Given the description of an element on the screen output the (x, y) to click on. 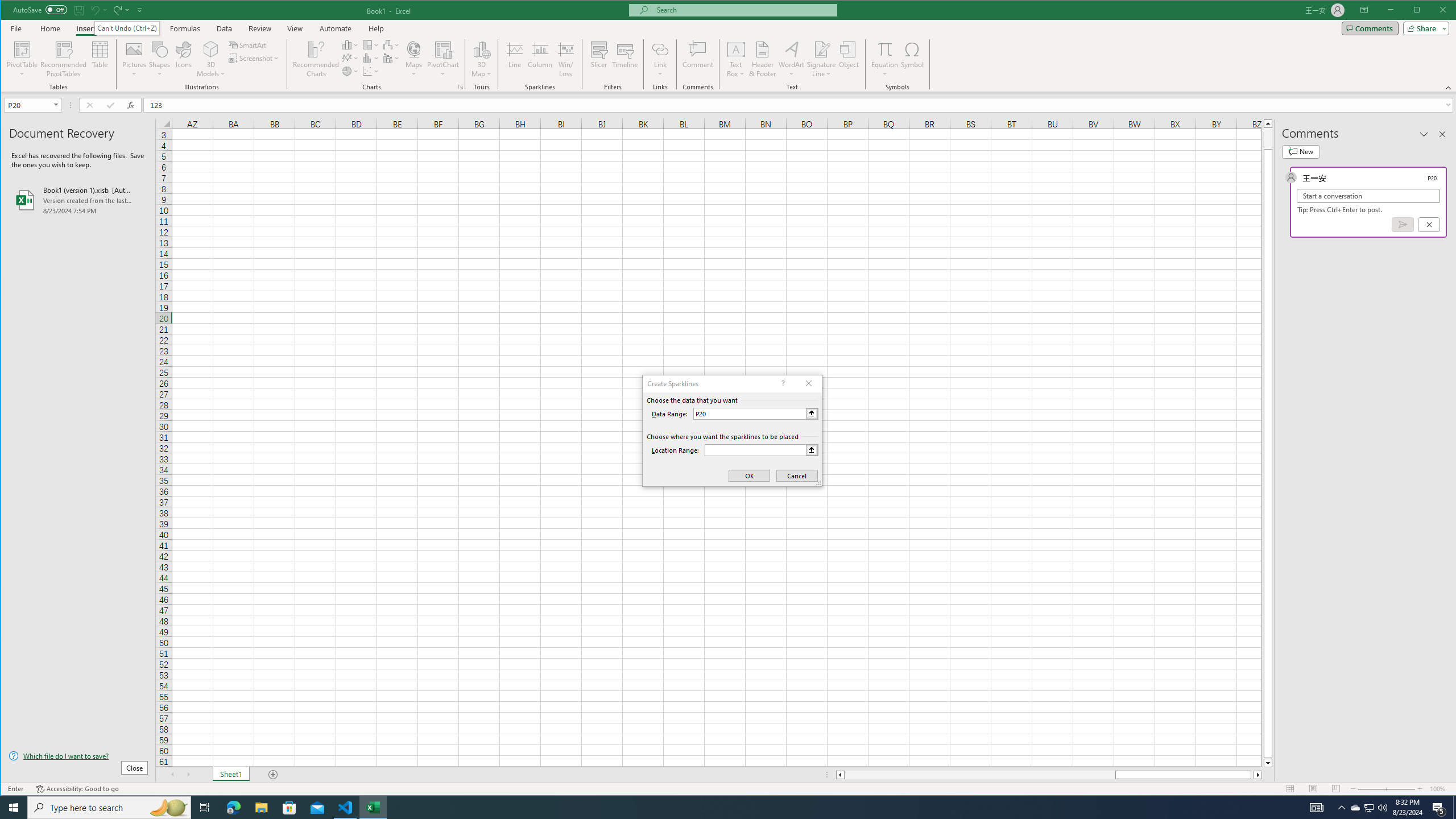
Maps (413, 59)
PivotChart (443, 48)
Screenshot (254, 57)
Page left (979, 774)
SmartArt... (248, 44)
Cancel (1428, 224)
3D Map (481, 48)
